Given the description of an element on the screen output the (x, y) to click on. 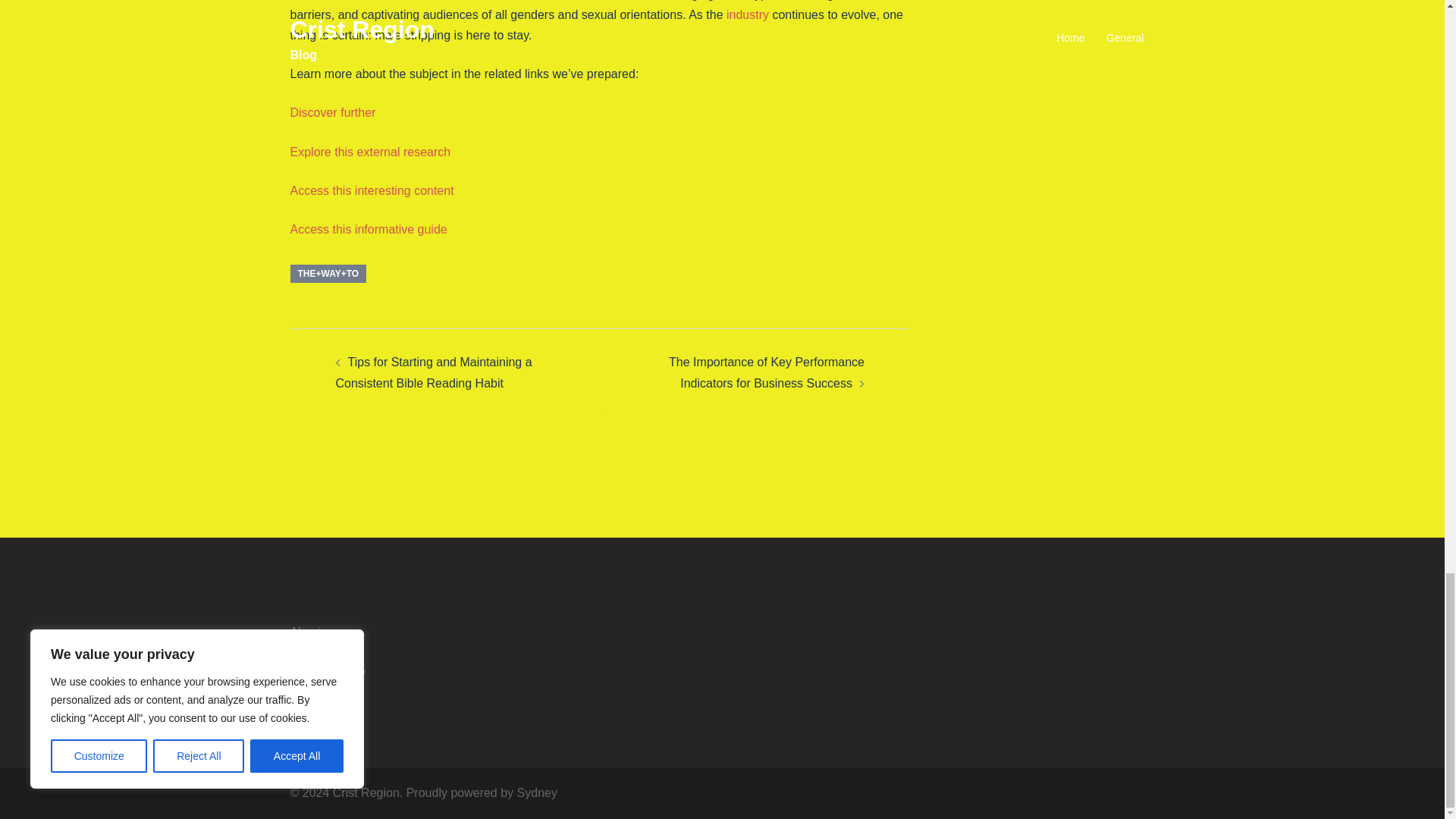
Access this informative guide (367, 228)
industry (747, 14)
Explore this external research (369, 151)
Access this interesting content (370, 190)
Discover further (332, 112)
